Given the description of an element on the screen output the (x, y) to click on. 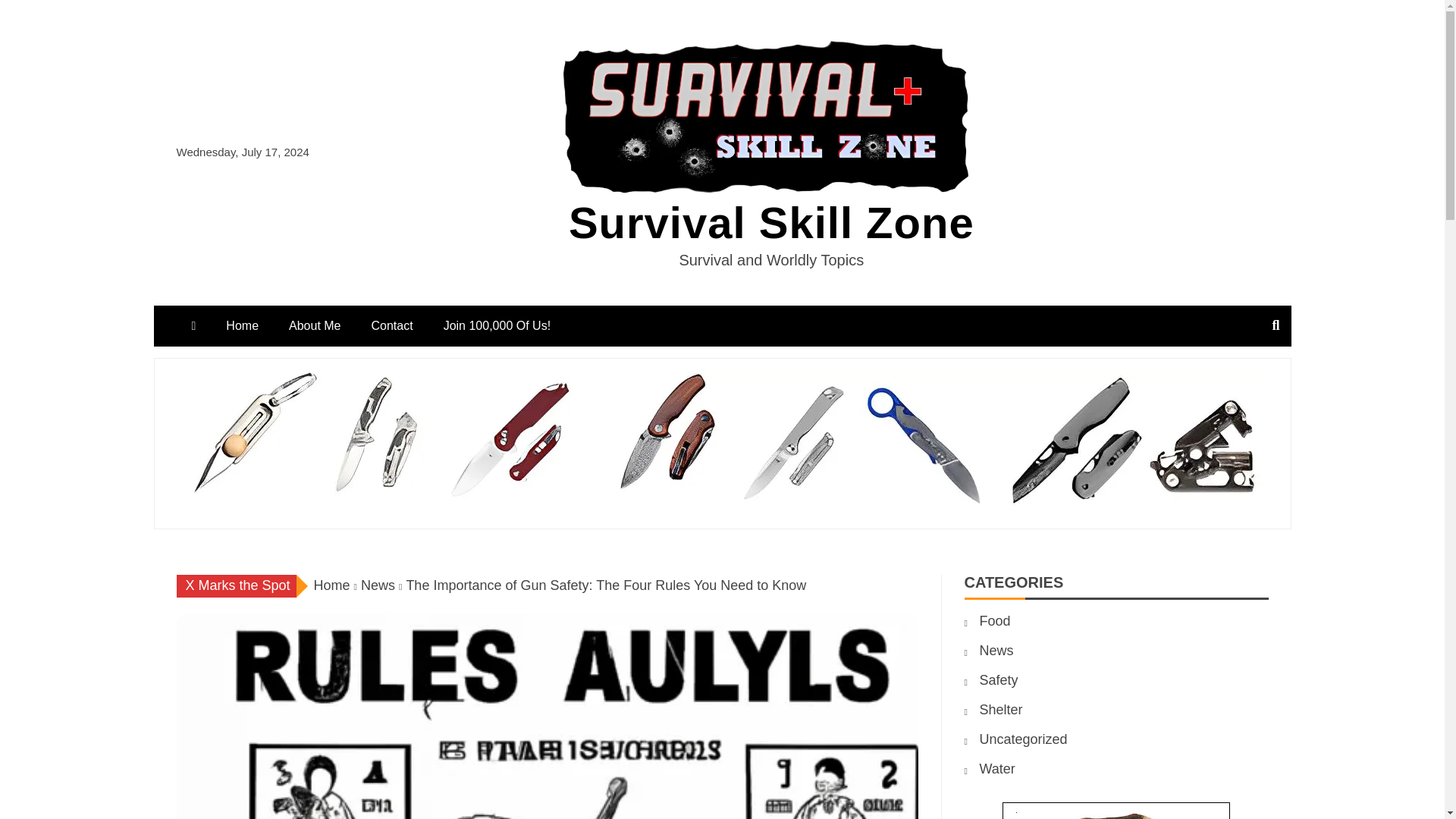
News (377, 585)
Uncategorized (1023, 739)
Home (242, 325)
Safety (998, 679)
Home (332, 585)
Water (996, 768)
Food (994, 620)
Join 100,000 Of Us! (497, 325)
Survival Skill Zone (771, 222)
Shelter (1001, 709)
About Me (314, 325)
News (996, 650)
Contact (392, 325)
